Given the description of an element on the screen output the (x, y) to click on. 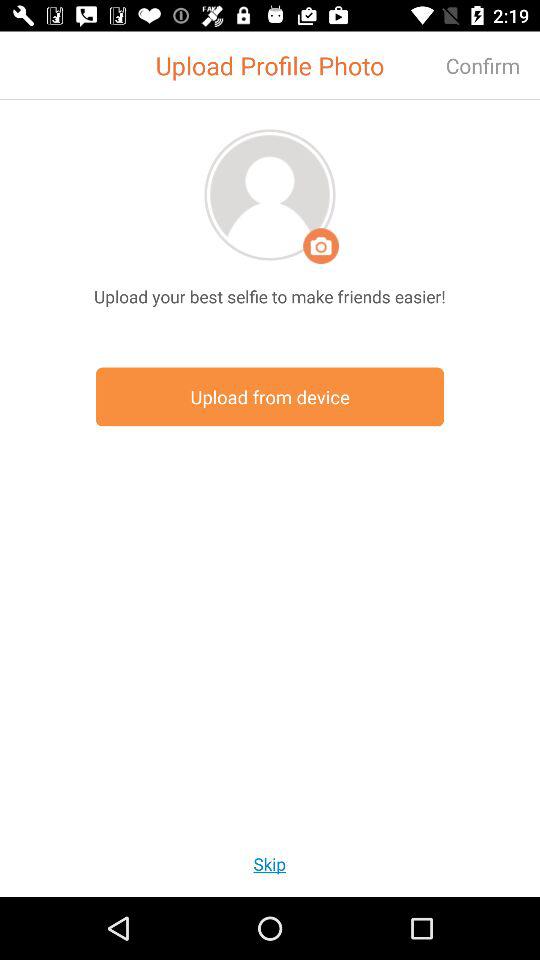
press the upload from device (270, 396)
